Given the description of an element on the screen output the (x, y) to click on. 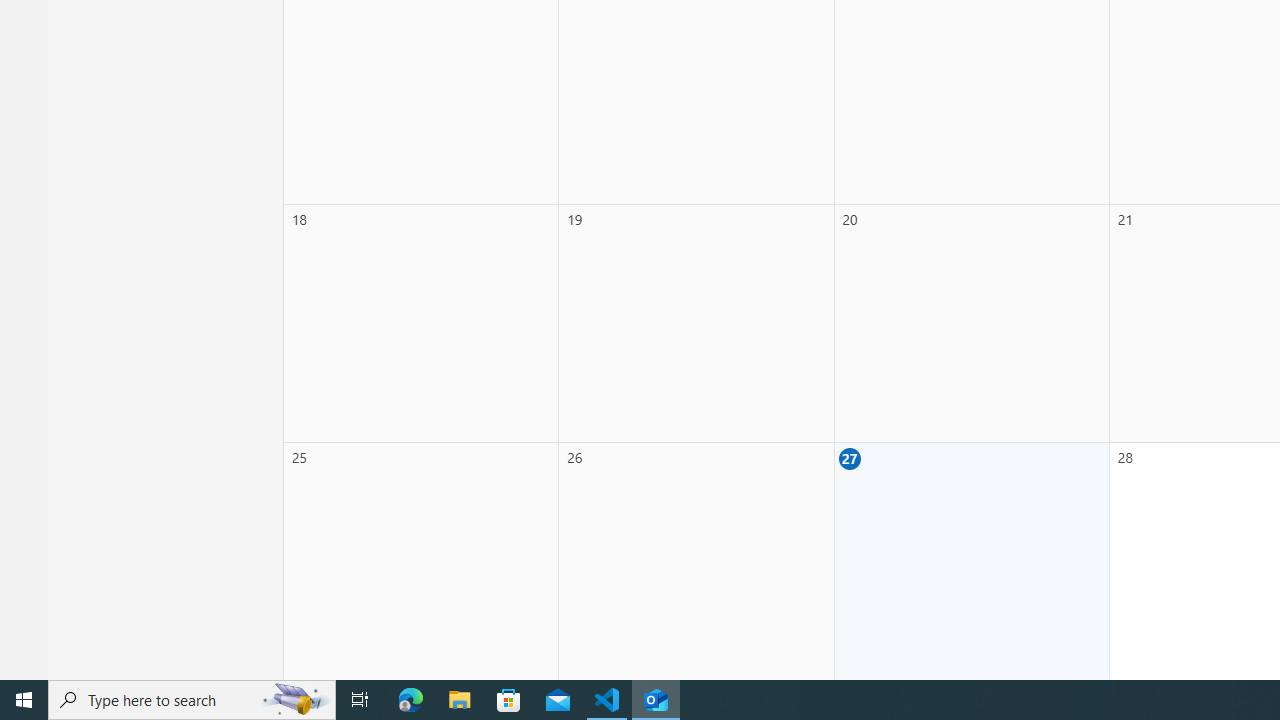
Type here to search (191, 699)
Outlook (new) - 1 running window (656, 699)
Search highlights icon opens search home window (295, 699)
Task View (359, 699)
Microsoft Store (509, 699)
Visual Studio Code - 1 running window (607, 699)
Microsoft Edge (411, 699)
File Explorer (460, 699)
Start (24, 699)
